Given the description of an element on the screen output the (x, y) to click on. 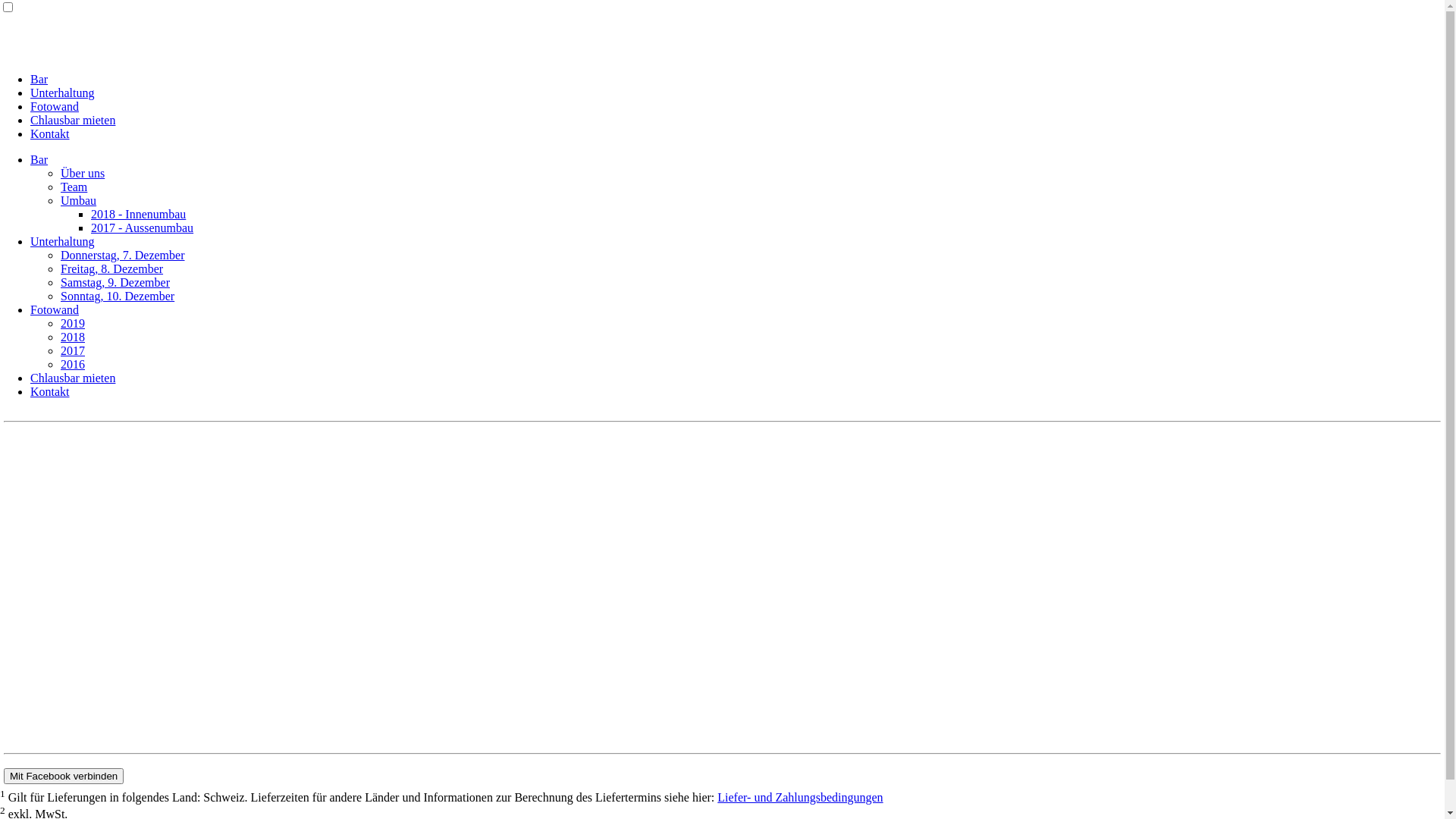
Fotowand Element type: text (54, 309)
2018 - Innenumbau Element type: text (138, 213)
Chlausbar mieten Element type: text (72, 377)
2018 Element type: text (72, 336)
2017 Element type: text (72, 350)
2017 - Aussenumbau Element type: text (142, 227)
Donnerstag, 7. Dezember Element type: text (122, 254)
Liefer- und Zahlungsbedingungen Element type: text (799, 796)
Sonntag, 10. Dezember Element type: text (117, 295)
Bar Element type: text (38, 159)
2016 Element type: text (72, 363)
Team Element type: text (73, 186)
Samstag, 9. Dezember Element type: text (114, 282)
Unterhaltung Element type: text (62, 241)
Kontakt Element type: text (49, 391)
Bar Element type: text (38, 78)
Mit Facebook verbinden Element type: text (63, 776)
Kontakt Element type: text (49, 133)
2019 Element type: text (72, 322)
Fotowand Element type: text (54, 106)
Freitag, 8. Dezember Element type: text (111, 268)
Chlausbar mieten Element type: text (72, 119)
Unterhaltung Element type: text (62, 92)
Umbau Element type: text (78, 200)
